Given the description of an element on the screen output the (x, y) to click on. 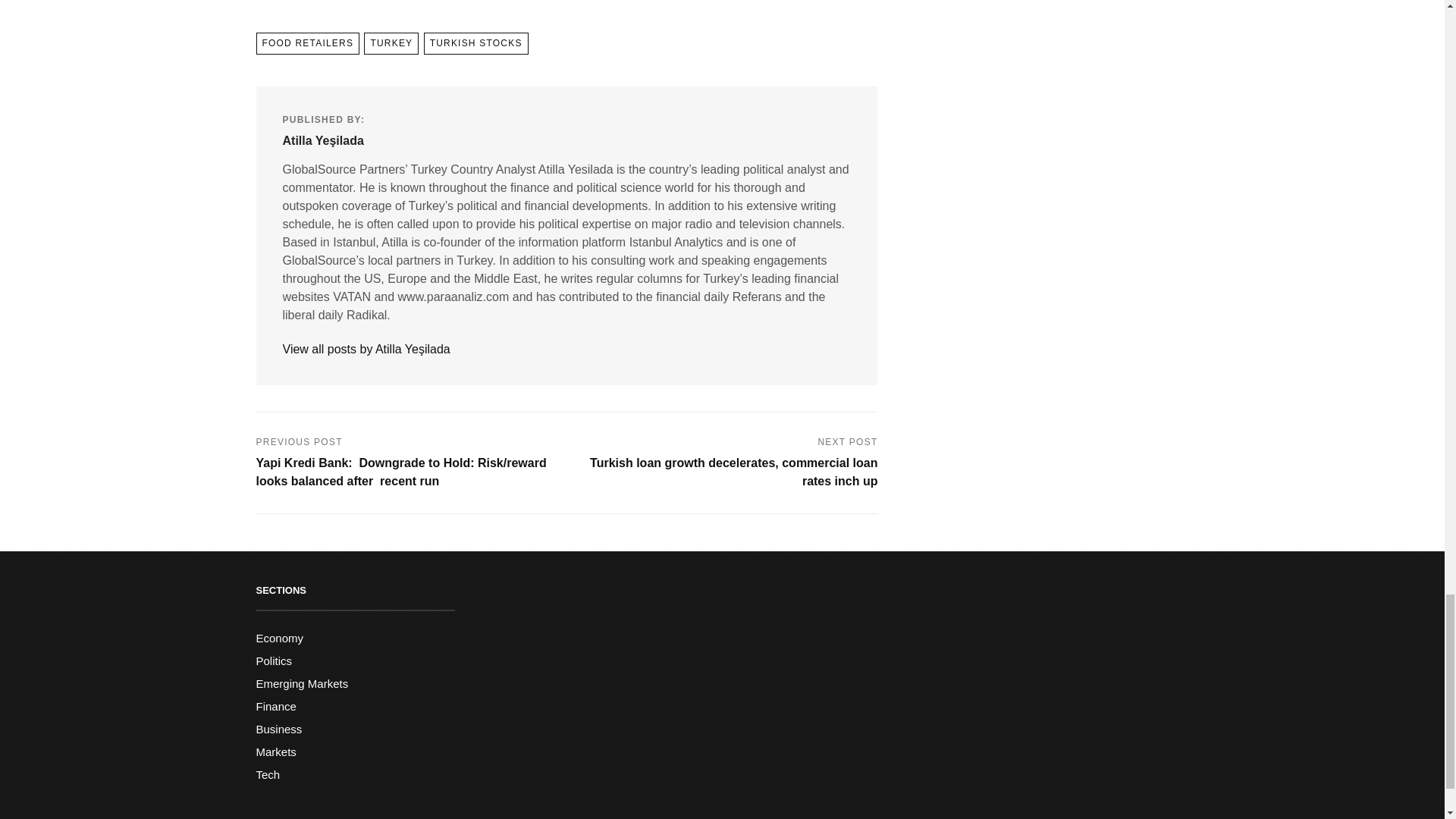
Politics (274, 660)
Economy (280, 637)
TURKISH STOCKS (475, 43)
TURKEY (391, 43)
Finance (276, 706)
Emerging Markets (302, 683)
FOOD RETAILERS (307, 43)
